Given the description of an element on the screen output the (x, y) to click on. 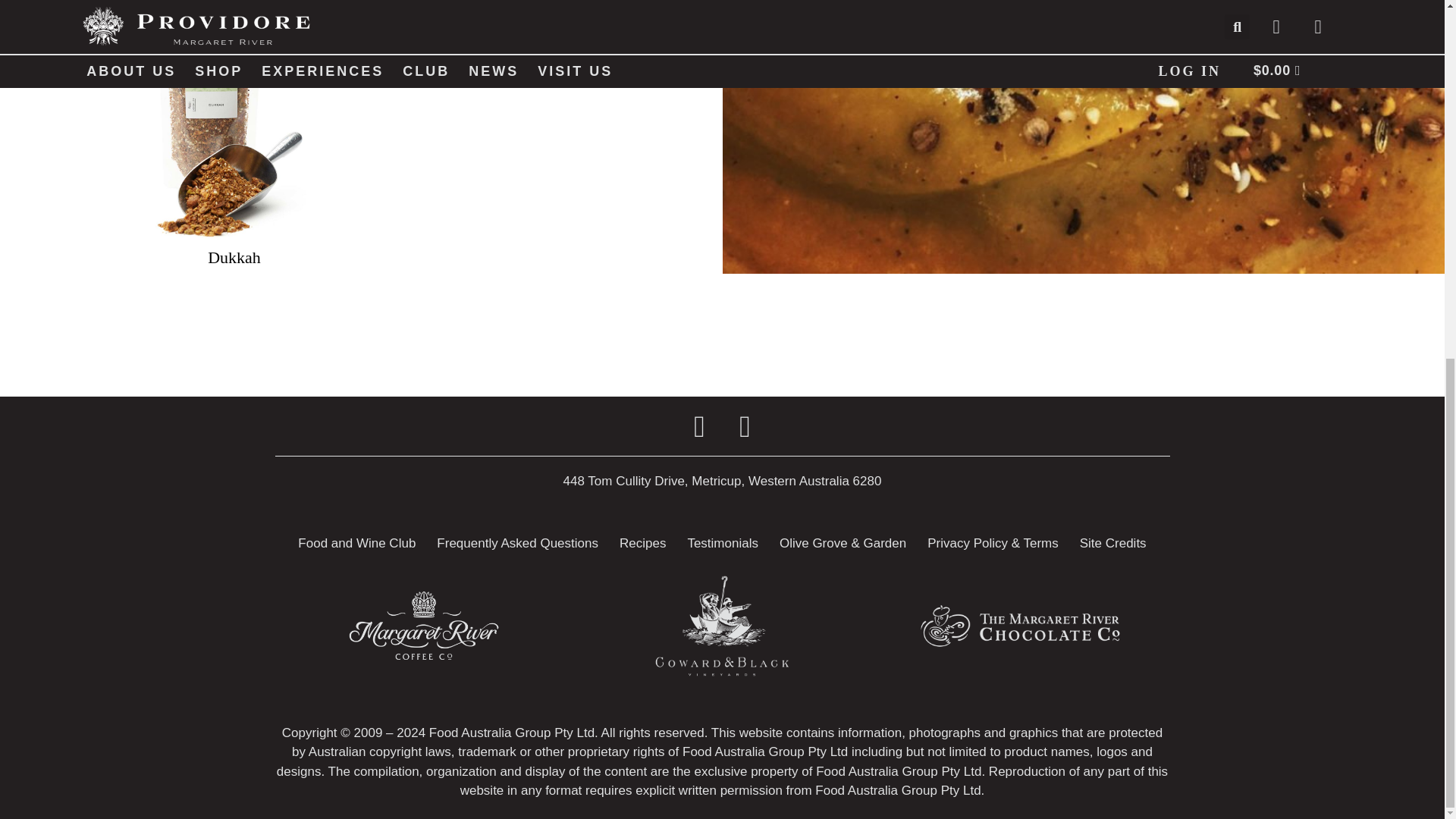
Dukkah (234, 257)
